Given the description of an element on the screen output the (x, y) to click on. 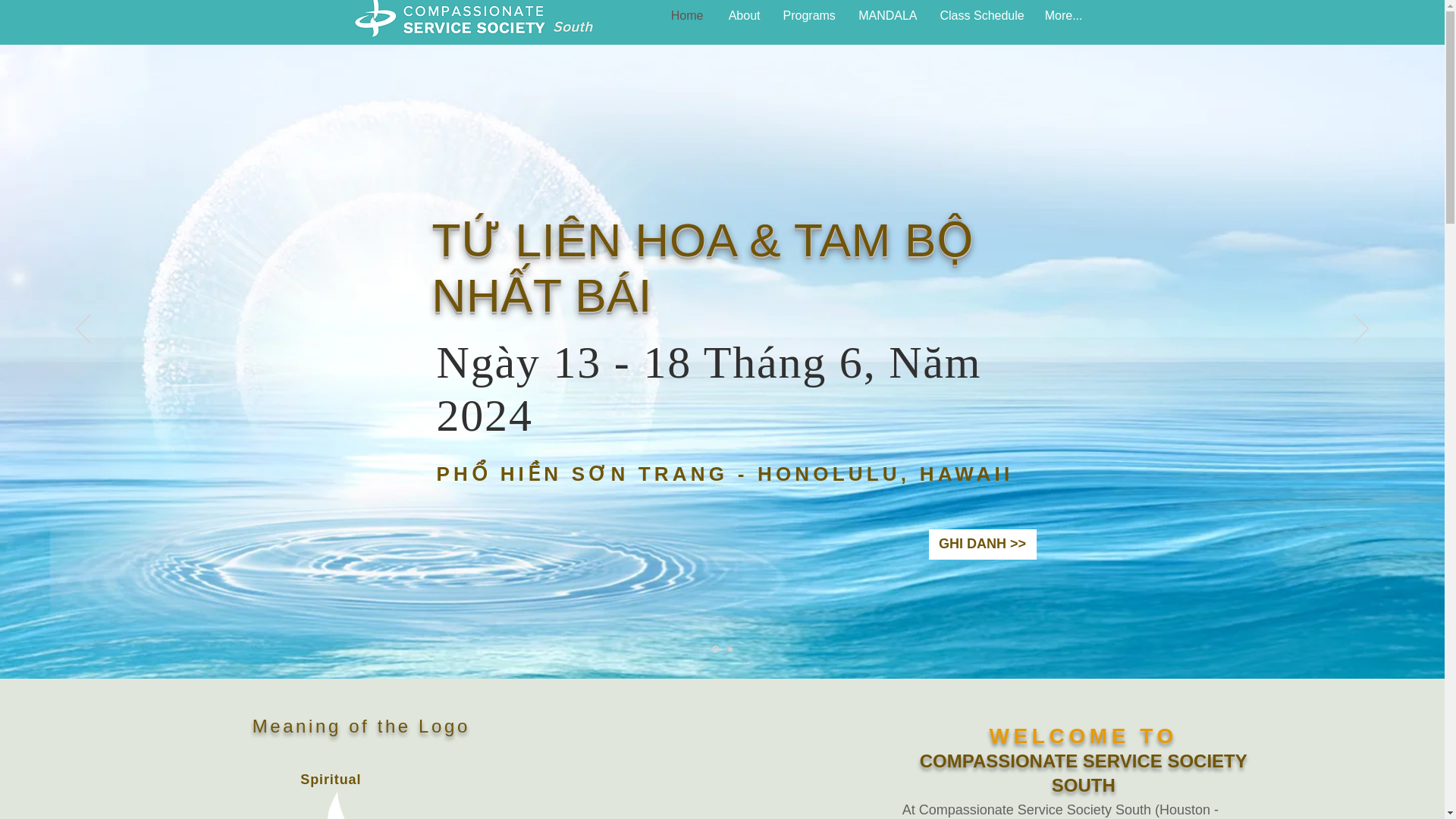
Spiritual (330, 779)
Meaning of the Logo (360, 725)
Class Schedule (980, 16)
Programs (808, 16)
MANDALA (886, 16)
About (742, 16)
Home (686, 16)
